Given the description of an element on the screen output the (x, y) to click on. 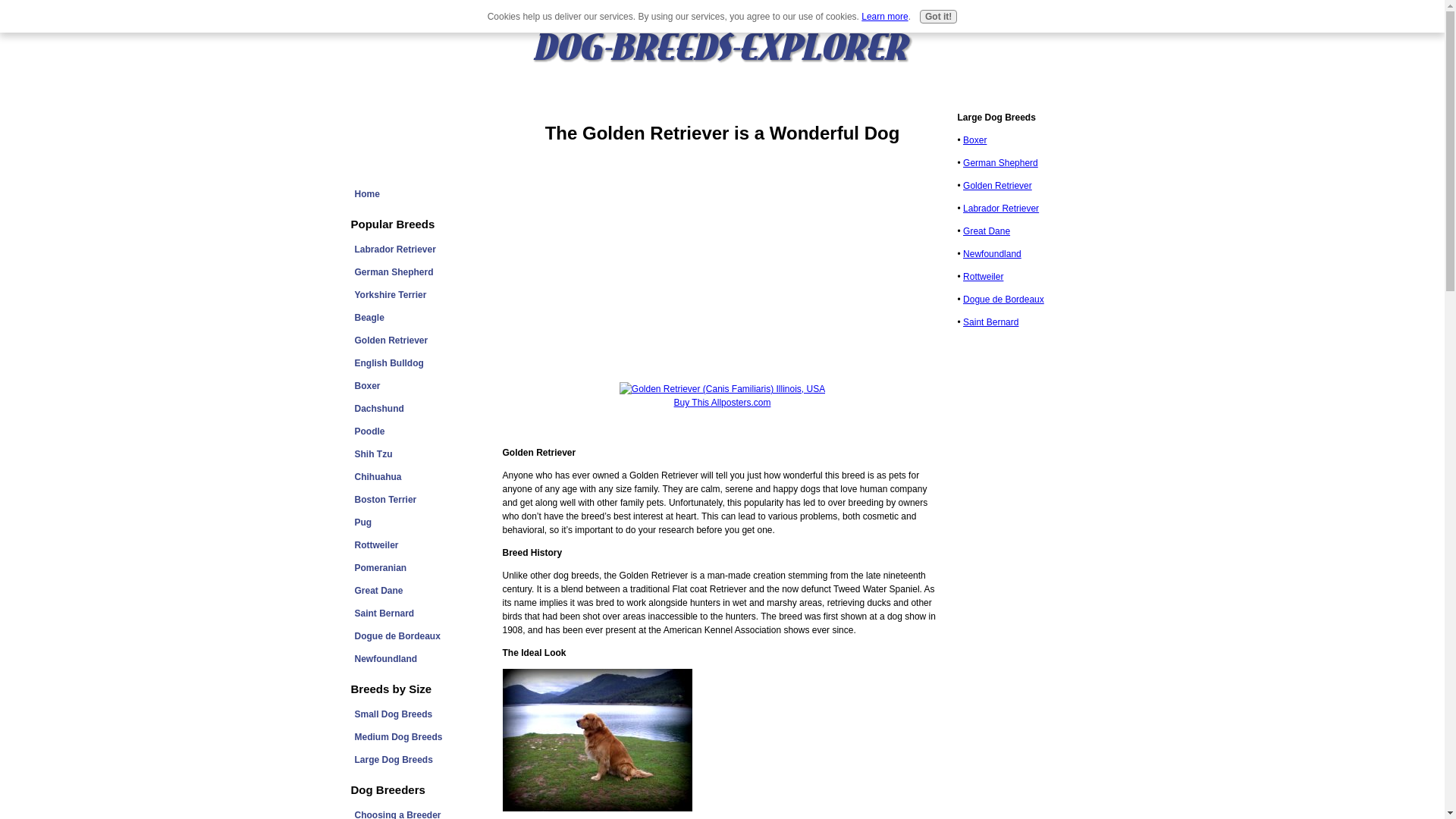
English Bulldog (418, 362)
Home (418, 193)
Poodle (418, 431)
Great Dane (418, 590)
Saint Bernard (418, 613)
Pug (418, 522)
Boxer (418, 385)
Buy This Allposters.com (722, 402)
Shih Tzu (418, 454)
Newfoundland (418, 658)
